Given the description of an element on the screen output the (x, y) to click on. 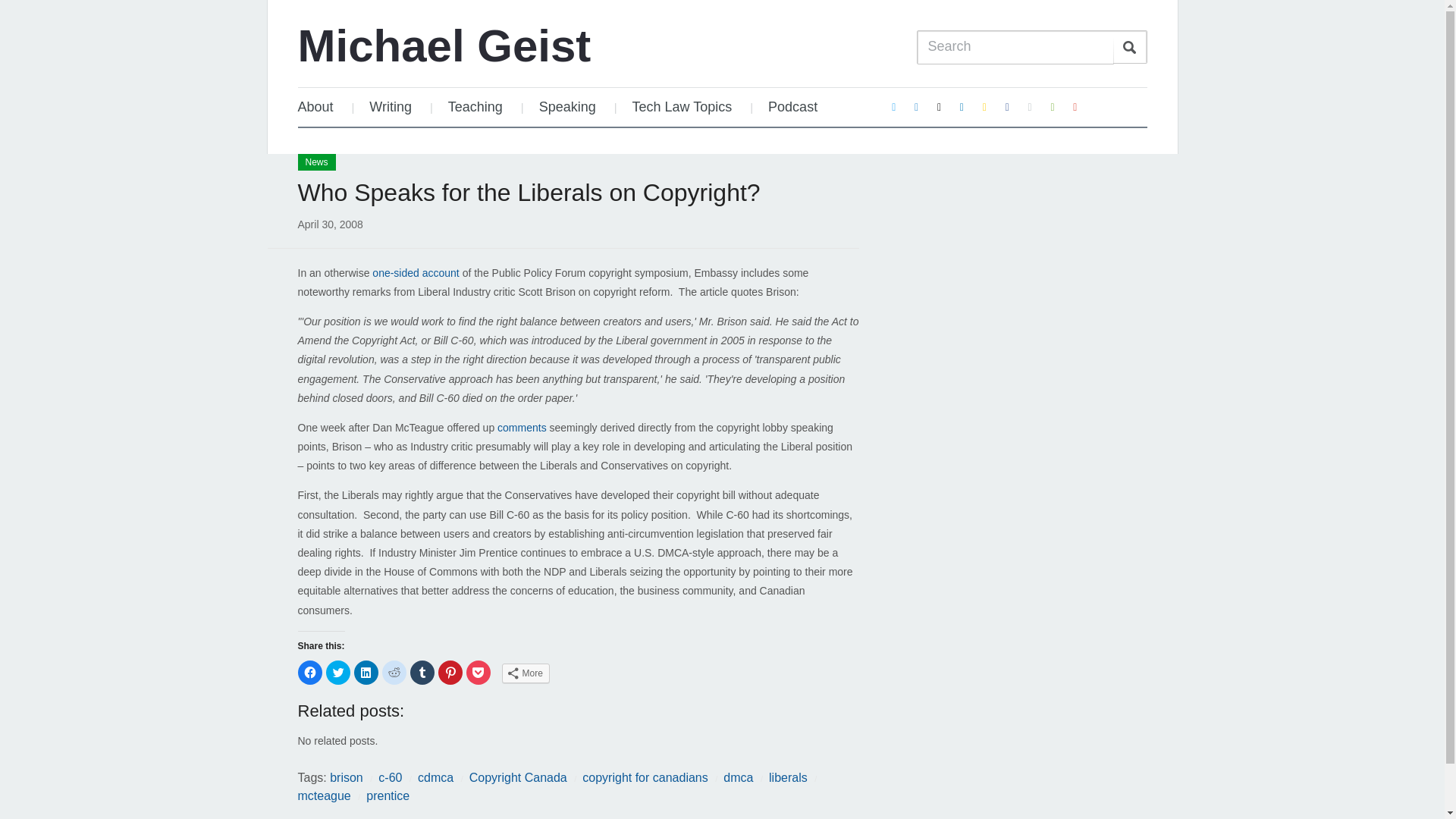
Search (1130, 46)
Tech Law Topics (682, 106)
Michael Geist (444, 45)
linkedin (961, 106)
Click to share on Reddit (393, 672)
Click to share on LinkedIn (365, 672)
Default Label (983, 106)
Teaching (475, 106)
Default Label (1029, 106)
Default Label (1074, 106)
